Given the description of an element on the screen output the (x, y) to click on. 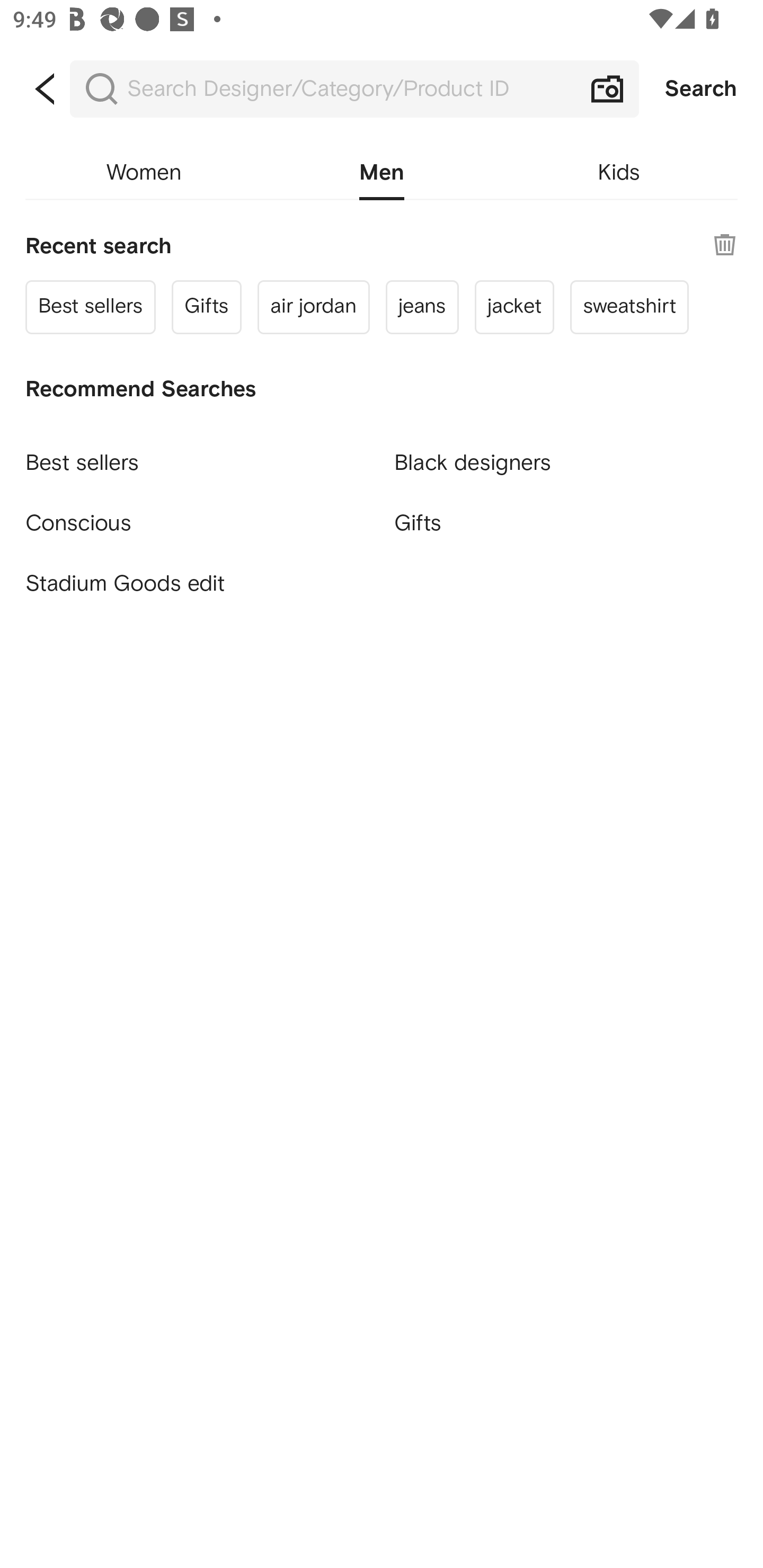
Search (701, 89)
Women (143, 172)
Kids (618, 172)
Best sellers (90, 306)
Gifts (206, 306)
air jordan (313, 306)
jeans (421, 306)
jacket (514, 306)
sweatshirt (629, 306)
Best sellers (196, 454)
Black designers (565, 454)
Conscious (196, 514)
Gifts (565, 522)
Stadium Goods edit (196, 583)
